Given the description of an element on the screen output the (x, y) to click on. 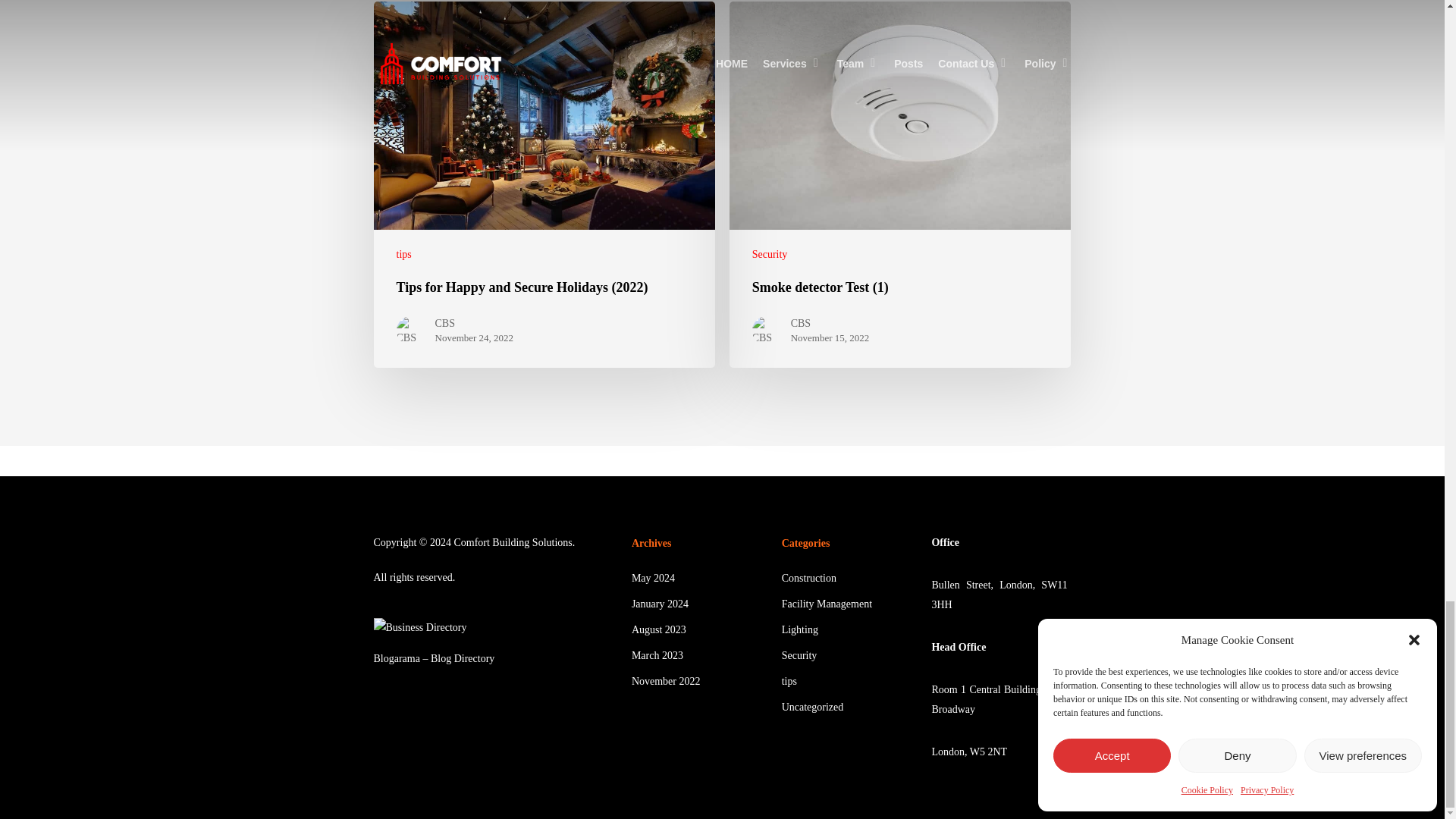
Blogarama.com - Follow me on Blogarama (433, 658)
